Given the description of an element on the screen output the (x, y) to click on. 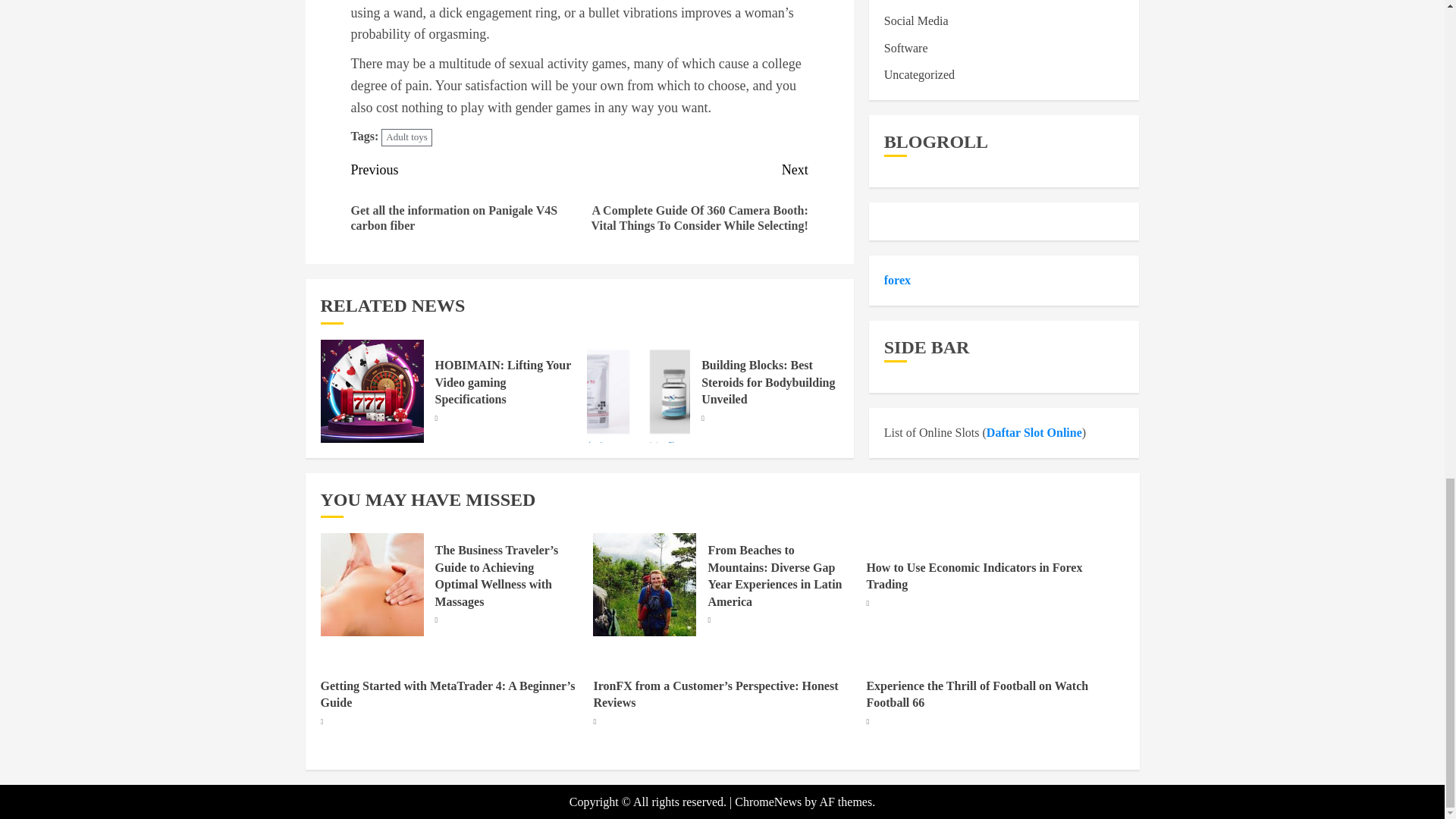
Adult toys (406, 137)
HOBIMAIN: Lifting Your Video gaming Specifications (503, 382)
Building Blocks: Best Steroids for Bodybuilding Unveiled (767, 382)
